Given the description of an element on the screen output the (x, y) to click on. 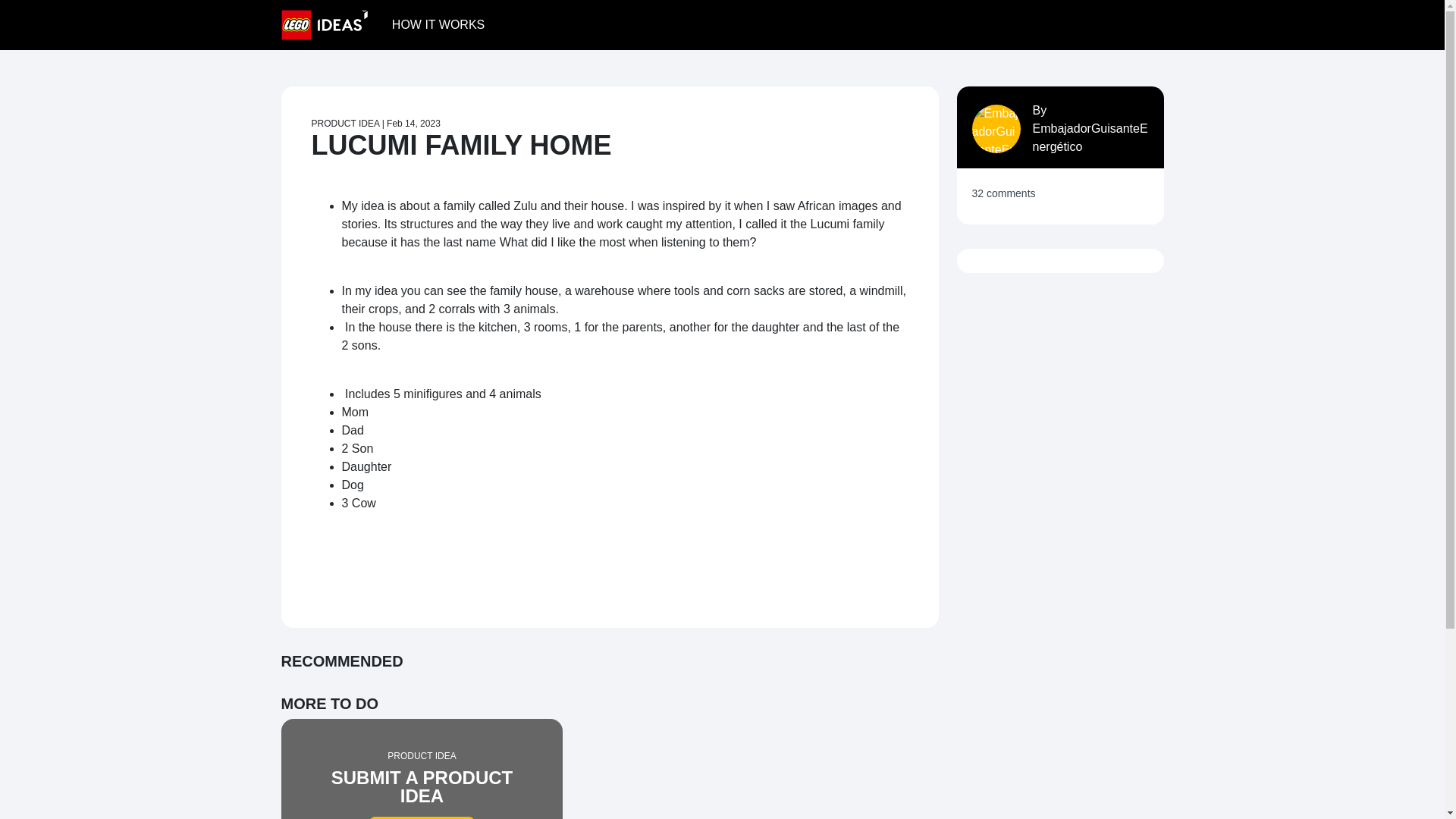
2023-02-14T21:02:25.286303Z (414, 122)
HOW IT WORKS (421, 769)
How It Works (438, 24)
